Given the description of an element on the screen output the (x, y) to click on. 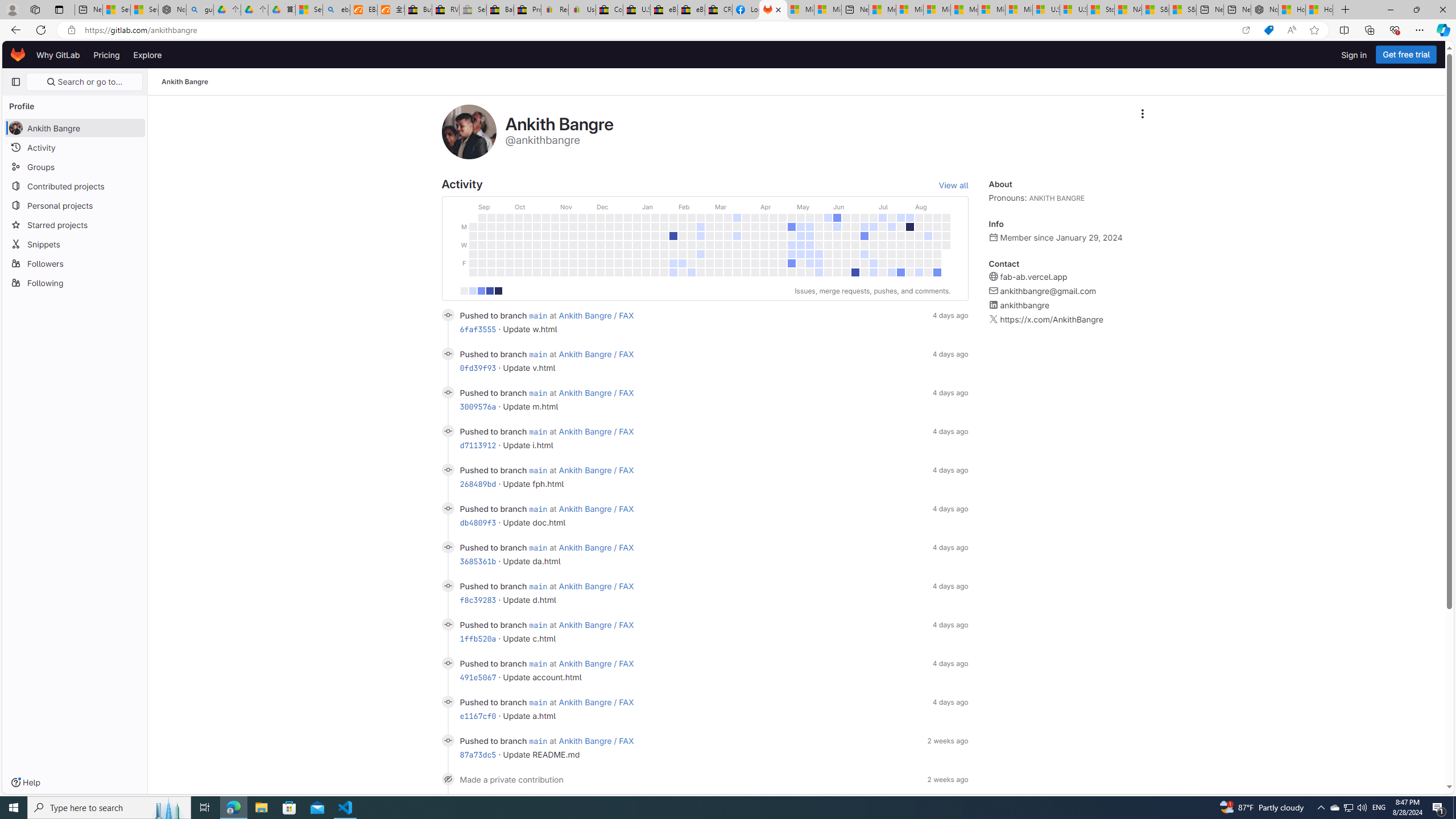
Starred projects (74, 224)
Help (25, 782)
30+ contributions (497, 290)
